Given the description of an element on the screen output the (x, y) to click on. 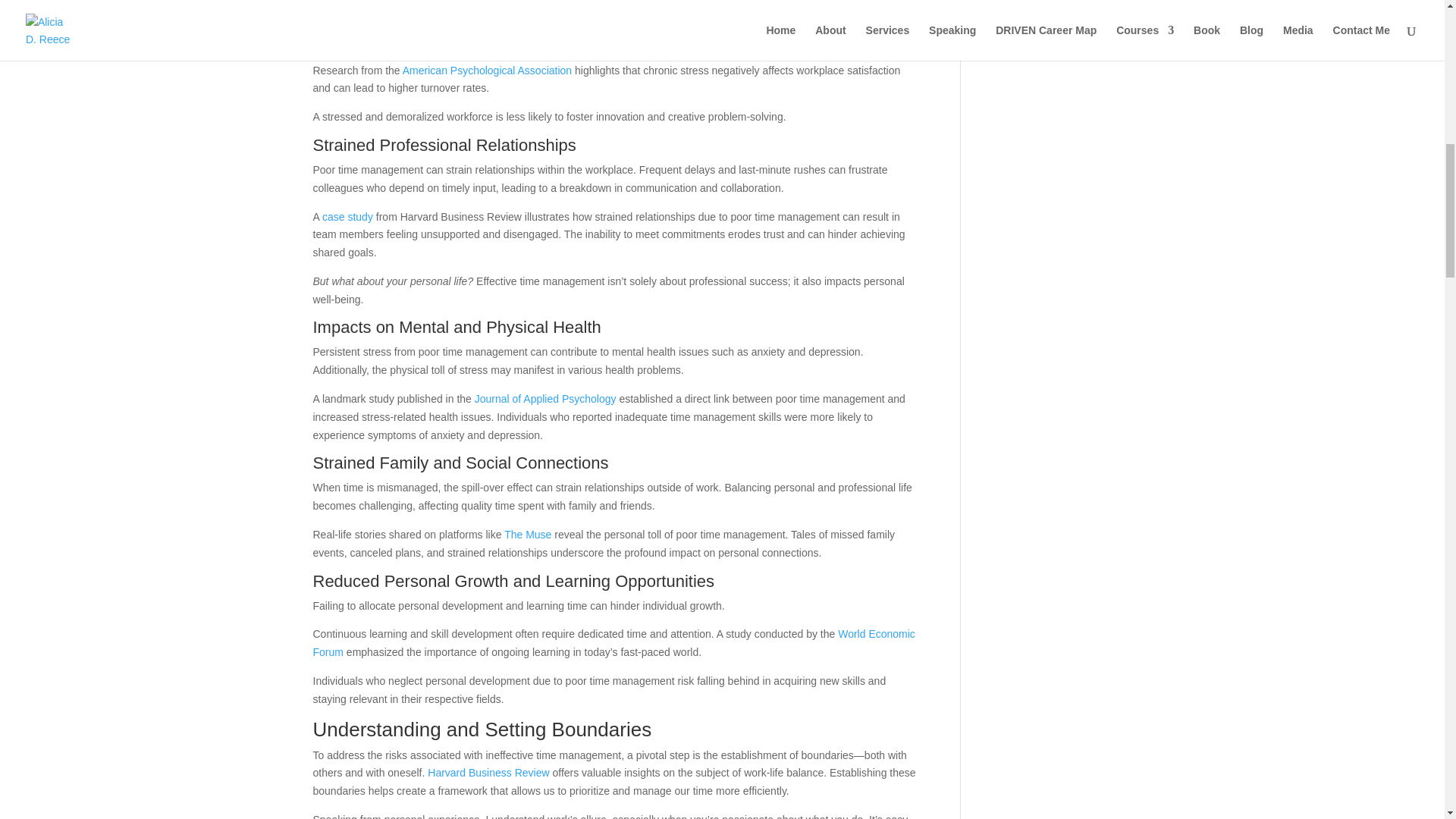
The Muse (527, 534)
Journal of Applied Psychology (544, 398)
case study (346, 216)
World Economic Forum (613, 643)
American Psychological Association (487, 70)
Harvard Business Review (488, 772)
